Given the description of an element on the screen output the (x, y) to click on. 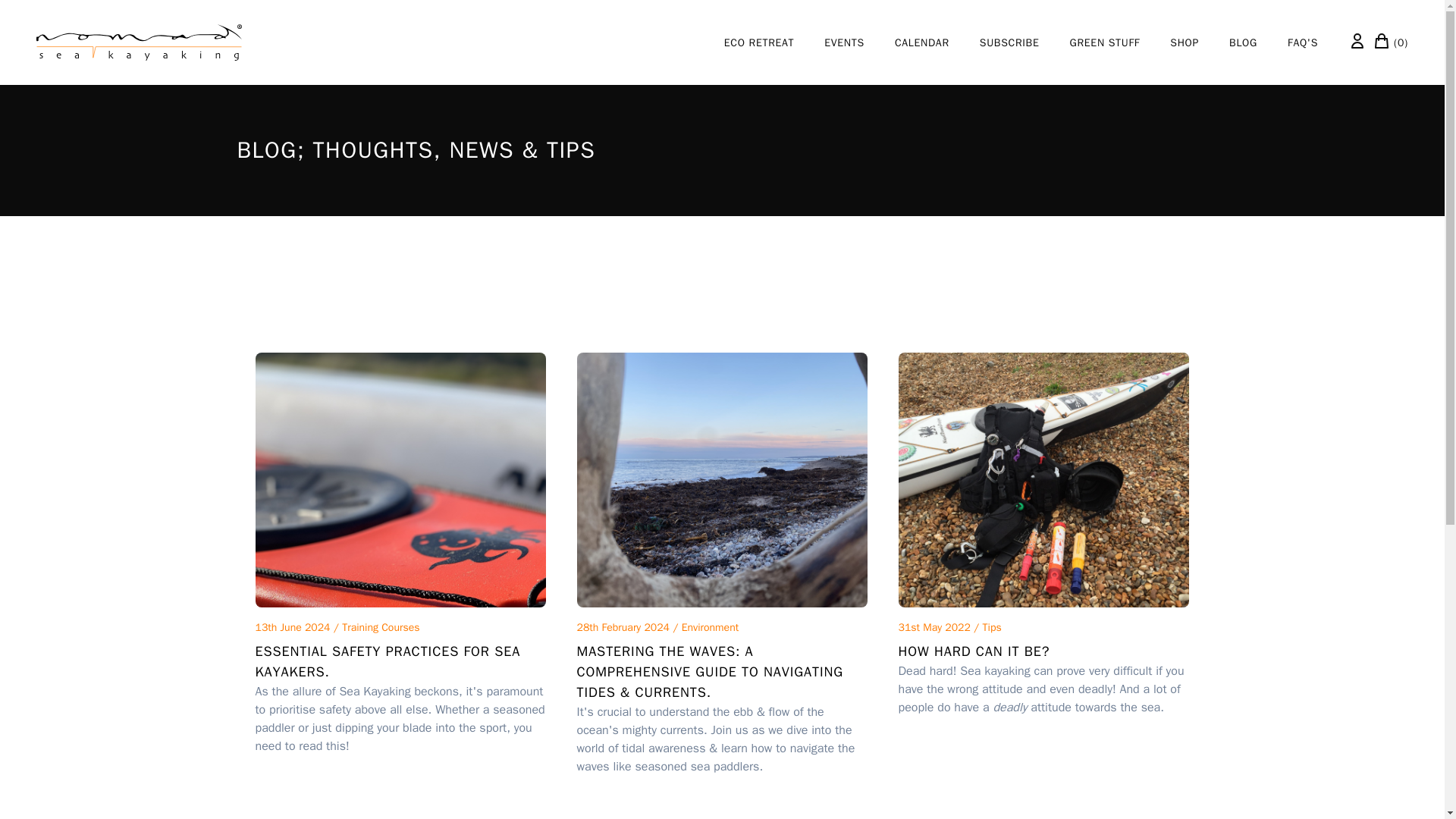
CALENDAR (922, 42)
SHOP (1184, 42)
EVENTS (844, 42)
SUBSCRIBE (1009, 42)
GREEN STUFF (1105, 42)
BLOG (1242, 42)
ECO RETREAT (758, 42)
FAQ'S (1302, 42)
